Given the description of an element on the screen output the (x, y) to click on. 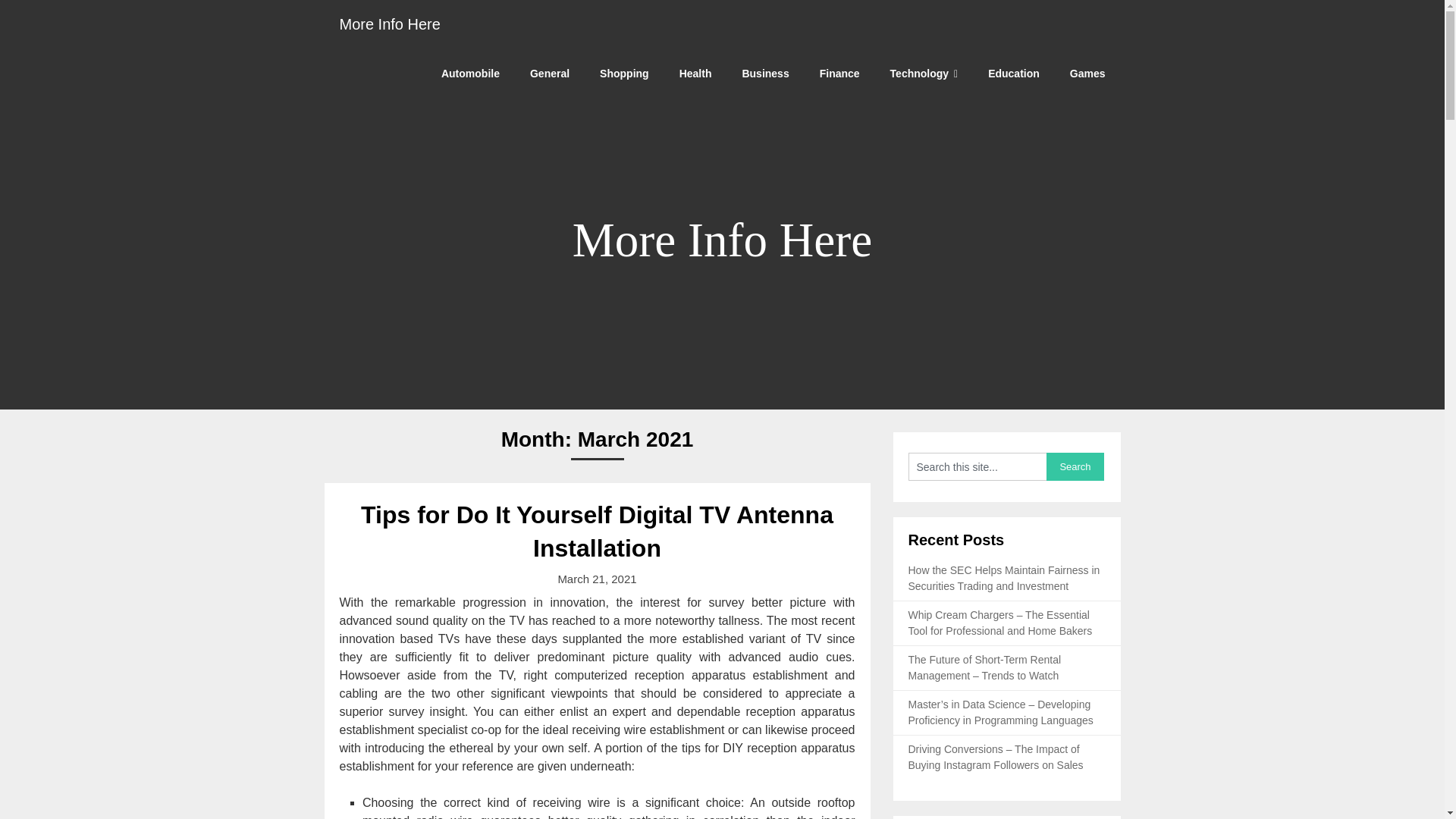
Search (1075, 466)
Automobile (470, 73)
Games (1087, 73)
Finance (840, 73)
Business (764, 73)
Technology (924, 73)
Search this site... (977, 466)
General (550, 73)
Tips for Do It Yourself Digital TV Antenna Installation (596, 531)
Search (1075, 466)
Health (694, 73)
Tips for Do It Yourself Digital TV Antenna Installation (596, 531)
Shopping (624, 73)
More Info Here (389, 24)
